Given the description of an element on the screen output the (x, y) to click on. 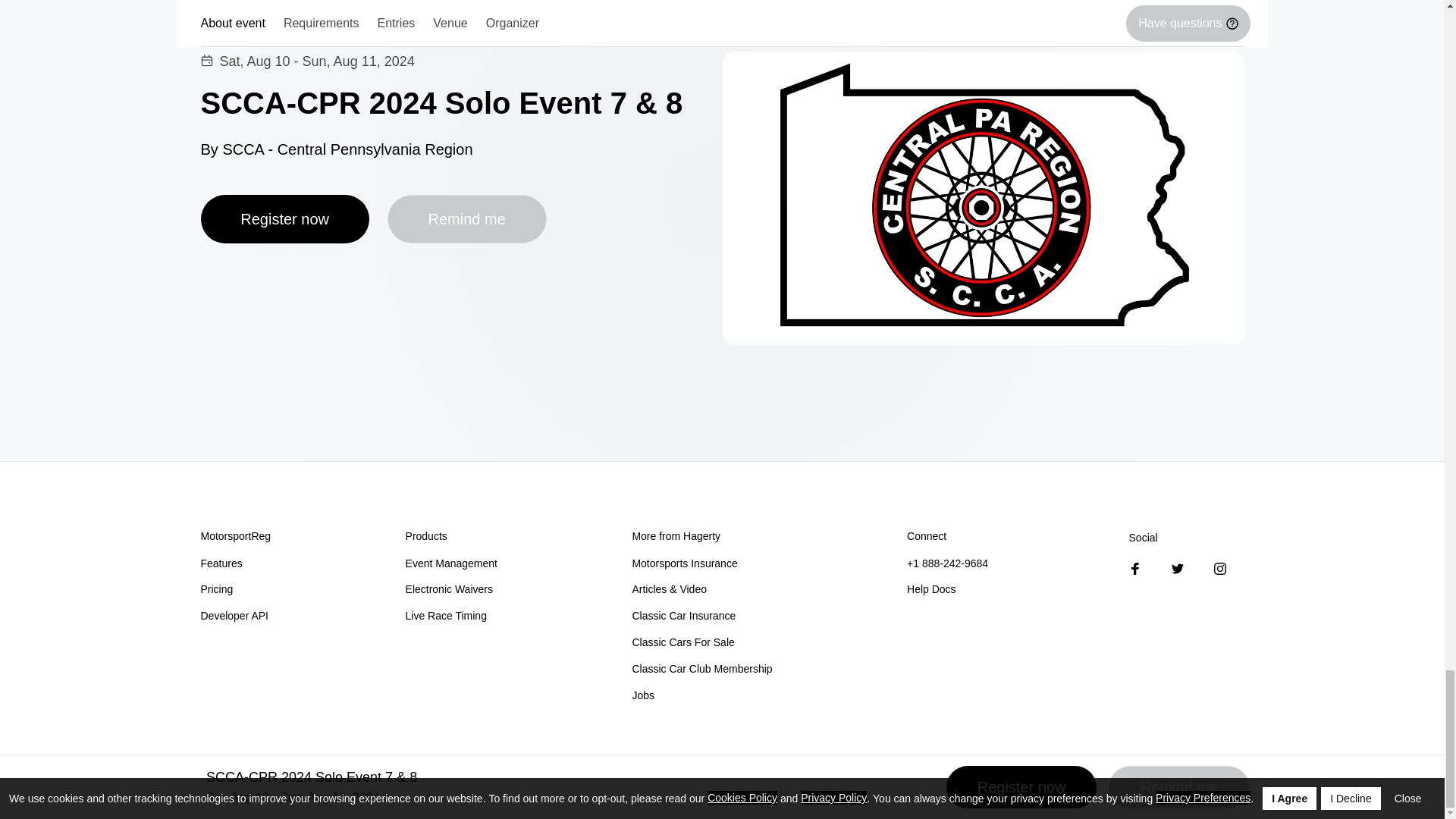
Instagram (1219, 568)
Facebook (1135, 568)
Twitter (1177, 568)
